Given the description of an element on the screen output the (x, y) to click on. 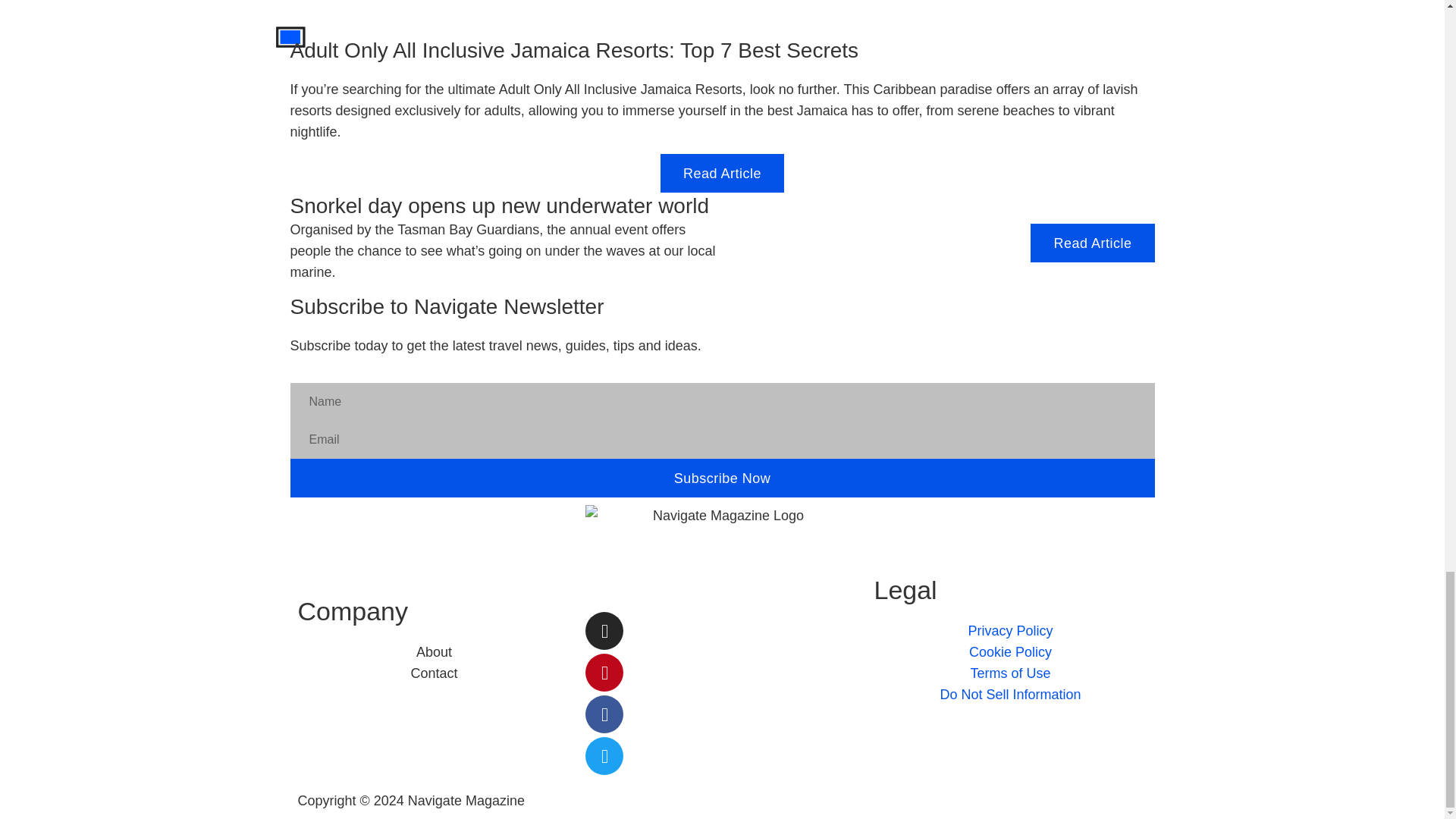
Take a Georgia Food Trip (289, 37)
